Given the description of an element on the screen output the (x, y) to click on. 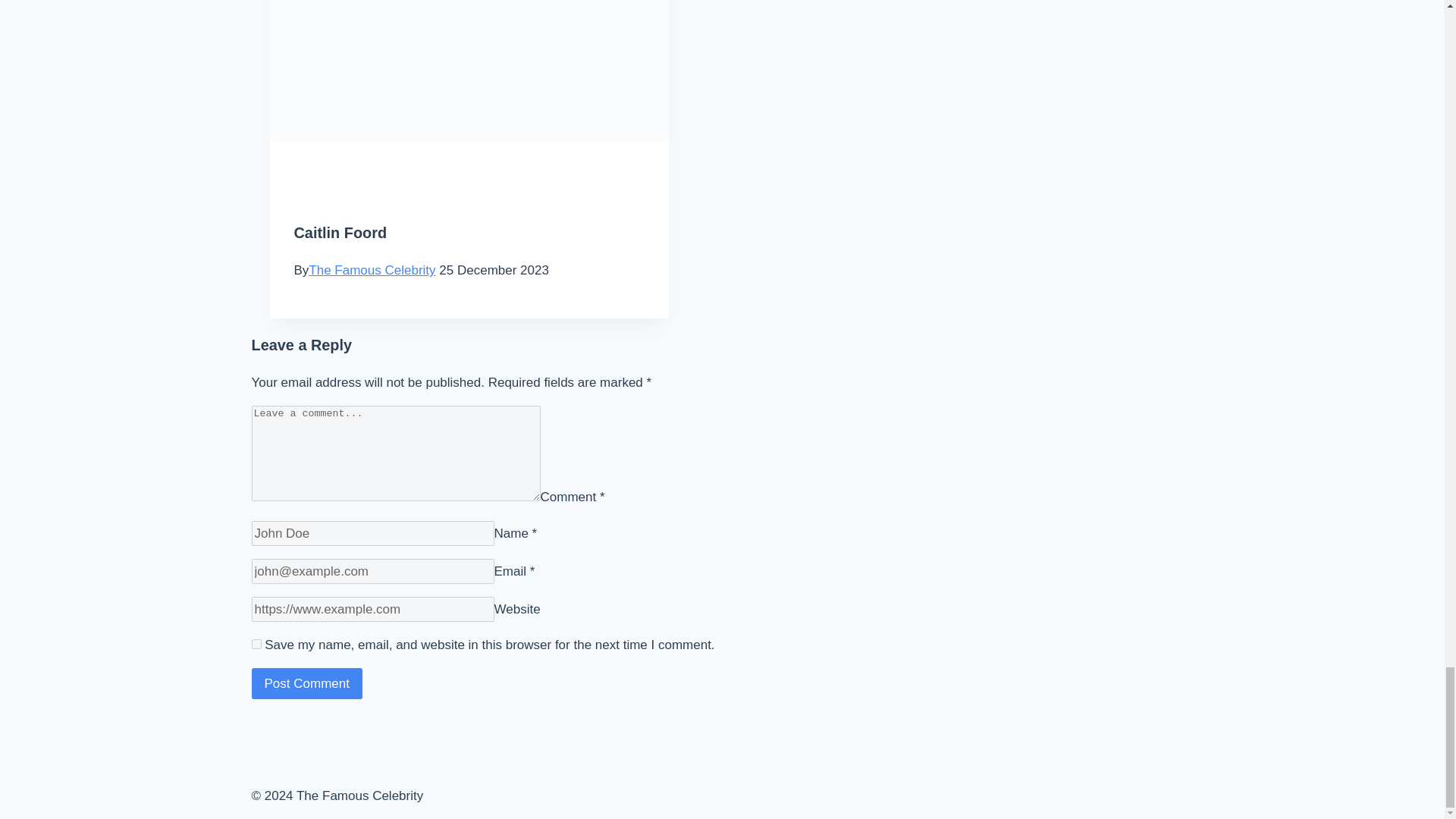
yes (256, 644)
Post Comment (306, 683)
